Given the description of an element on the screen output the (x, y) to click on. 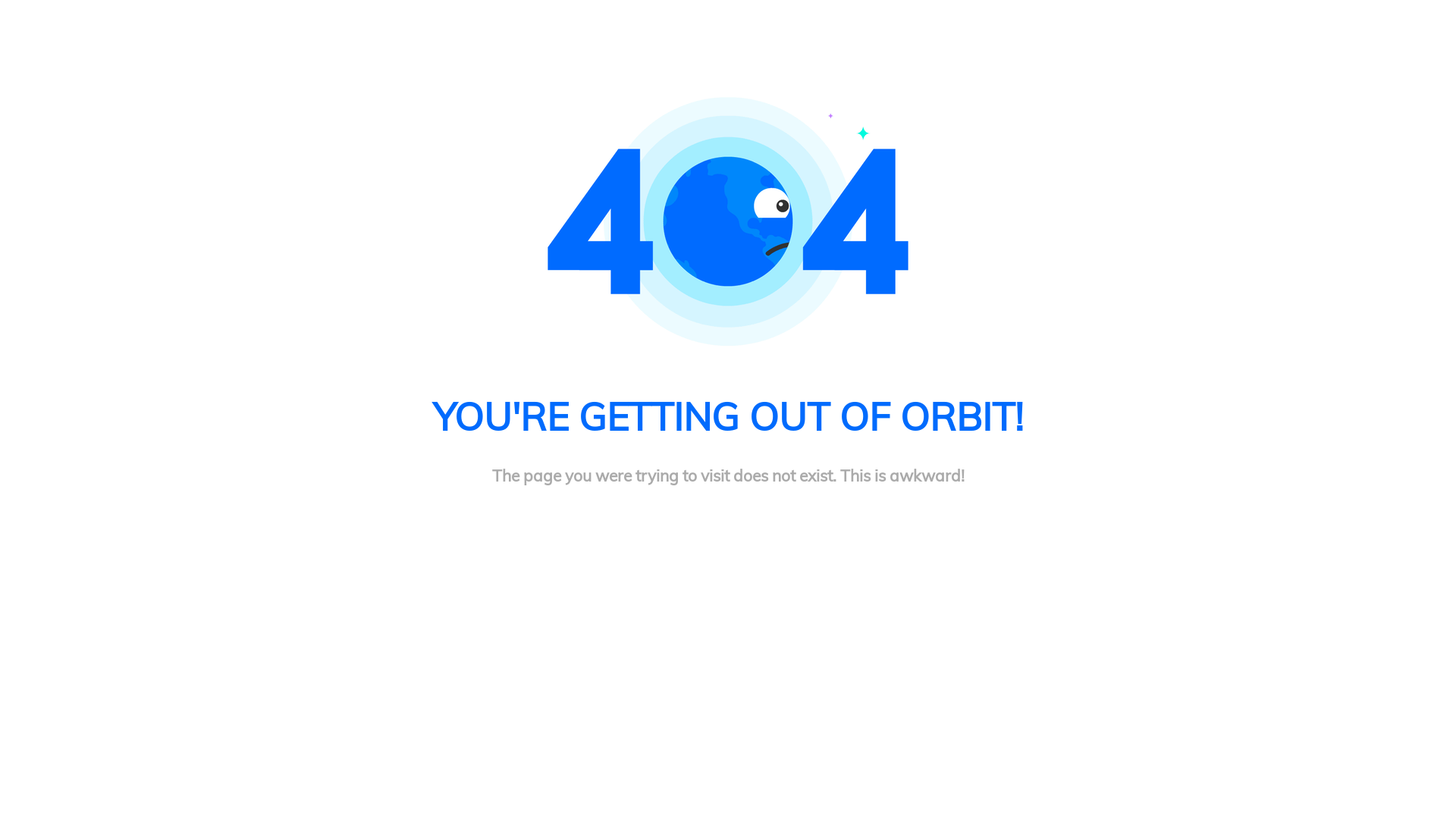
Site unavailable Element type: hover (728, 221)
